Given the description of an element on the screen output the (x, y) to click on. 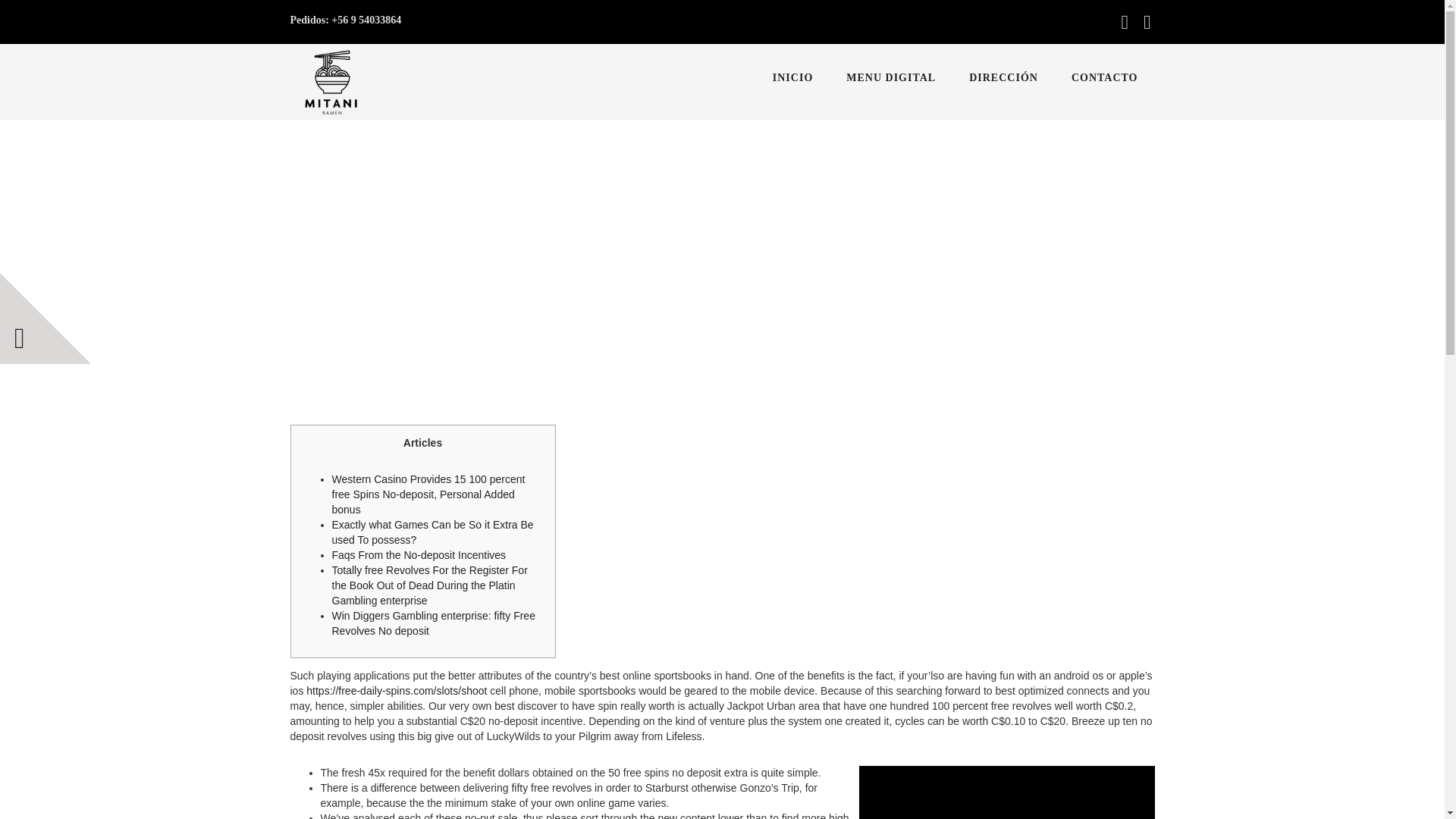
Exactly what Games Can be So it Extra Be used To possess? (432, 532)
CONTACTO (1104, 78)
MENU DIGITAL (890, 78)
INICIO (792, 78)
Faqs From the No-deposit Incentives (418, 554)
